Given the description of an element on the screen output the (x, y) to click on. 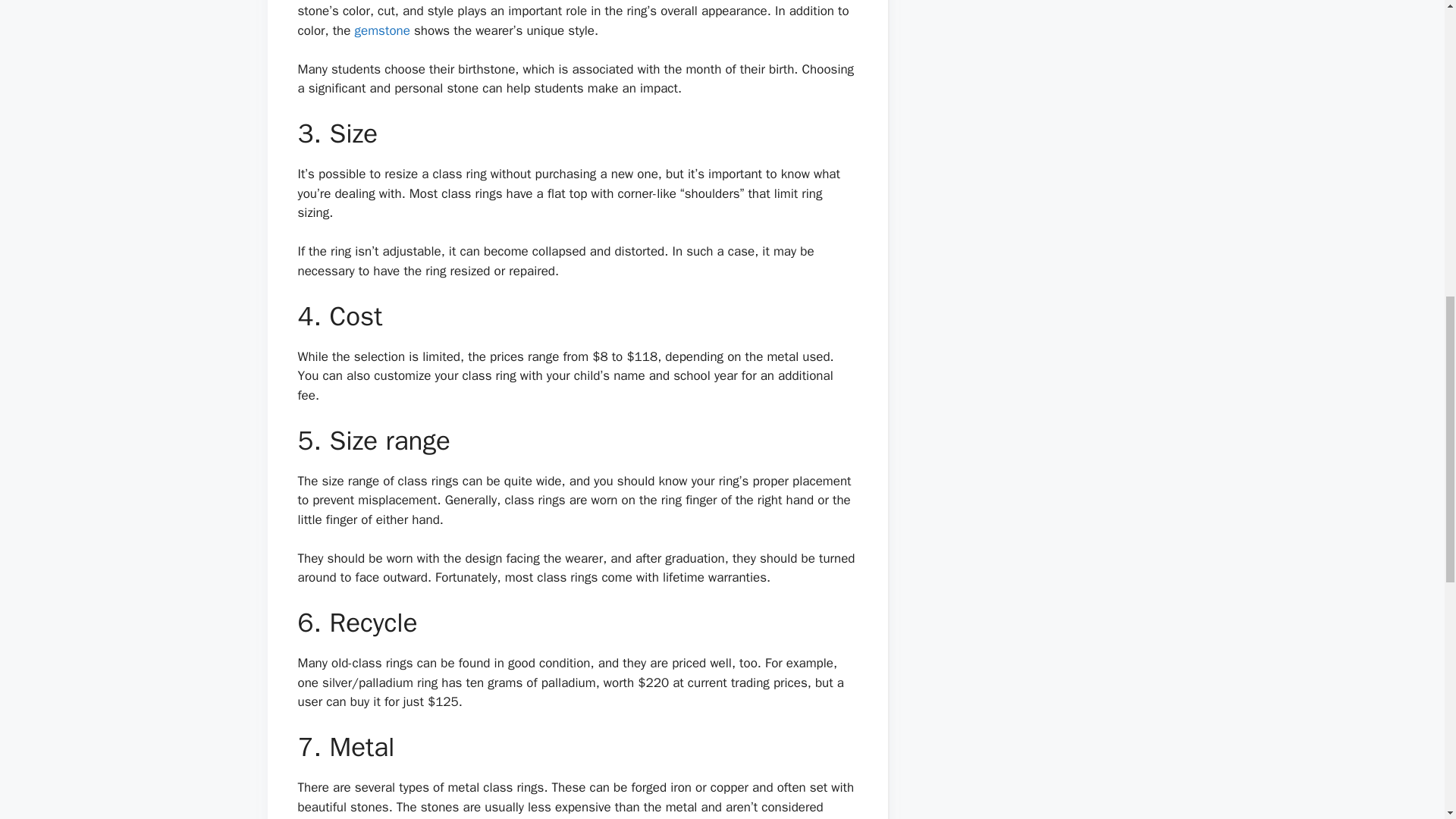
gemstone (382, 30)
